Given the description of an element on the screen output the (x, y) to click on. 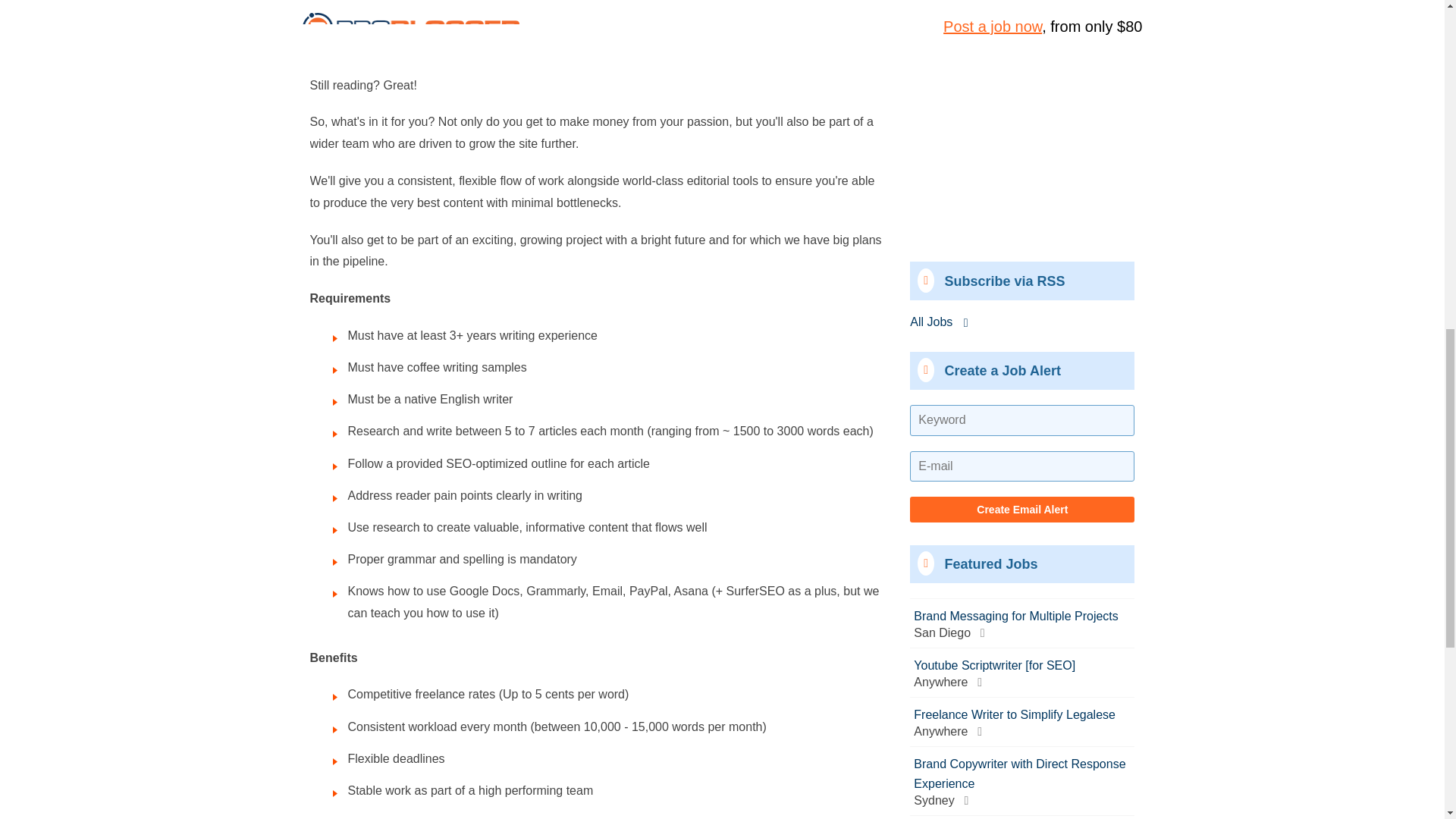
Create Email Alert (1022, 235)
